Given the description of an element on the screen output the (x, y) to click on. 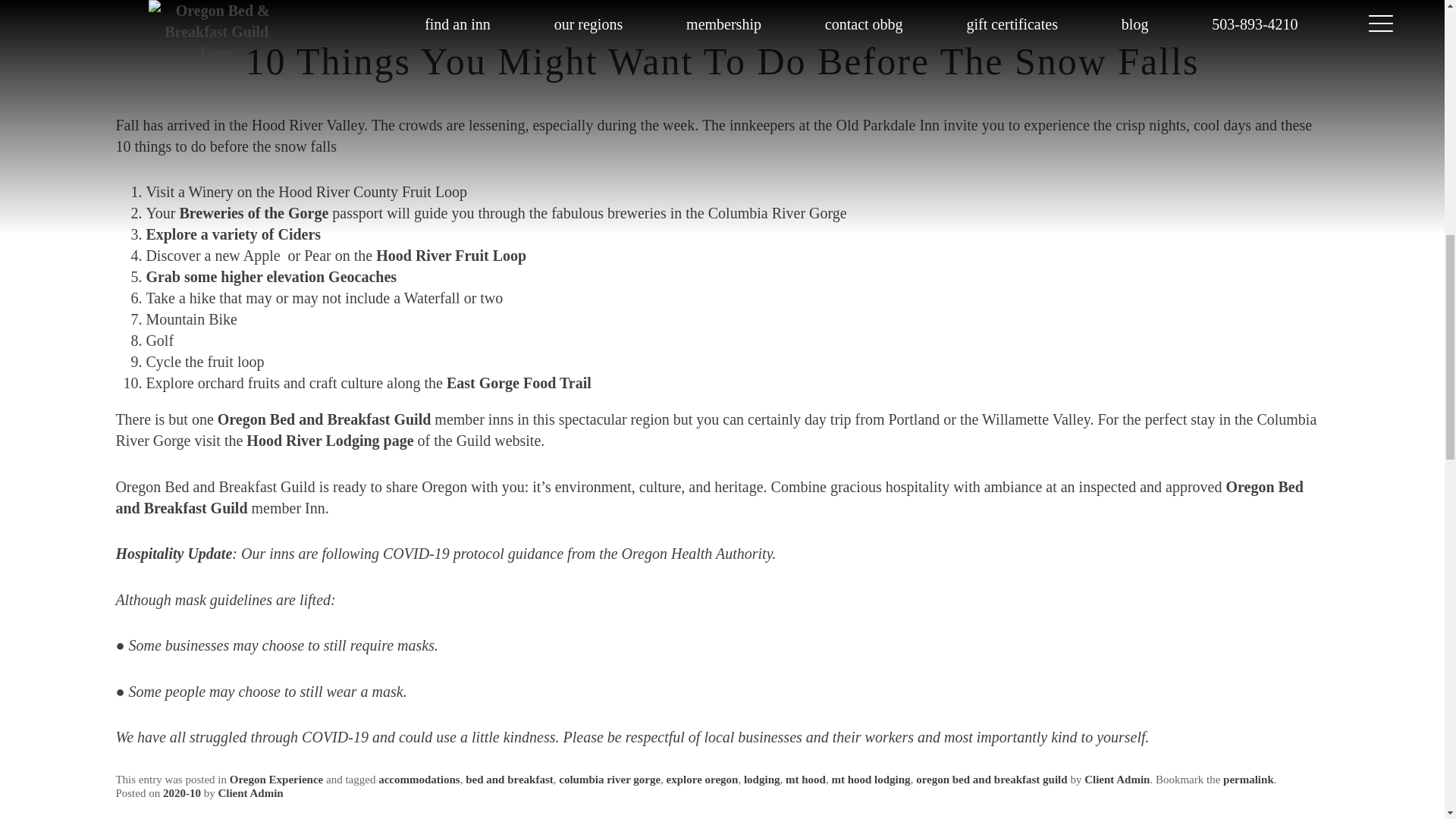
Higher Elevation Geocaches (270, 276)
Hood River Fruit Loop (450, 255)
Breweries of the Gorge Passport (254, 212)
Hood River Lodging page (329, 440)
Hospitality Update (173, 553)
Grab some higher elevation Geocaches (270, 276)
Explore a variety of Ciders (232, 234)
Oregon Bed and Breakfast Guild (709, 497)
Oregon Experience (276, 779)
accommodations (419, 779)
